Given the description of an element on the screen output the (x, y) to click on. 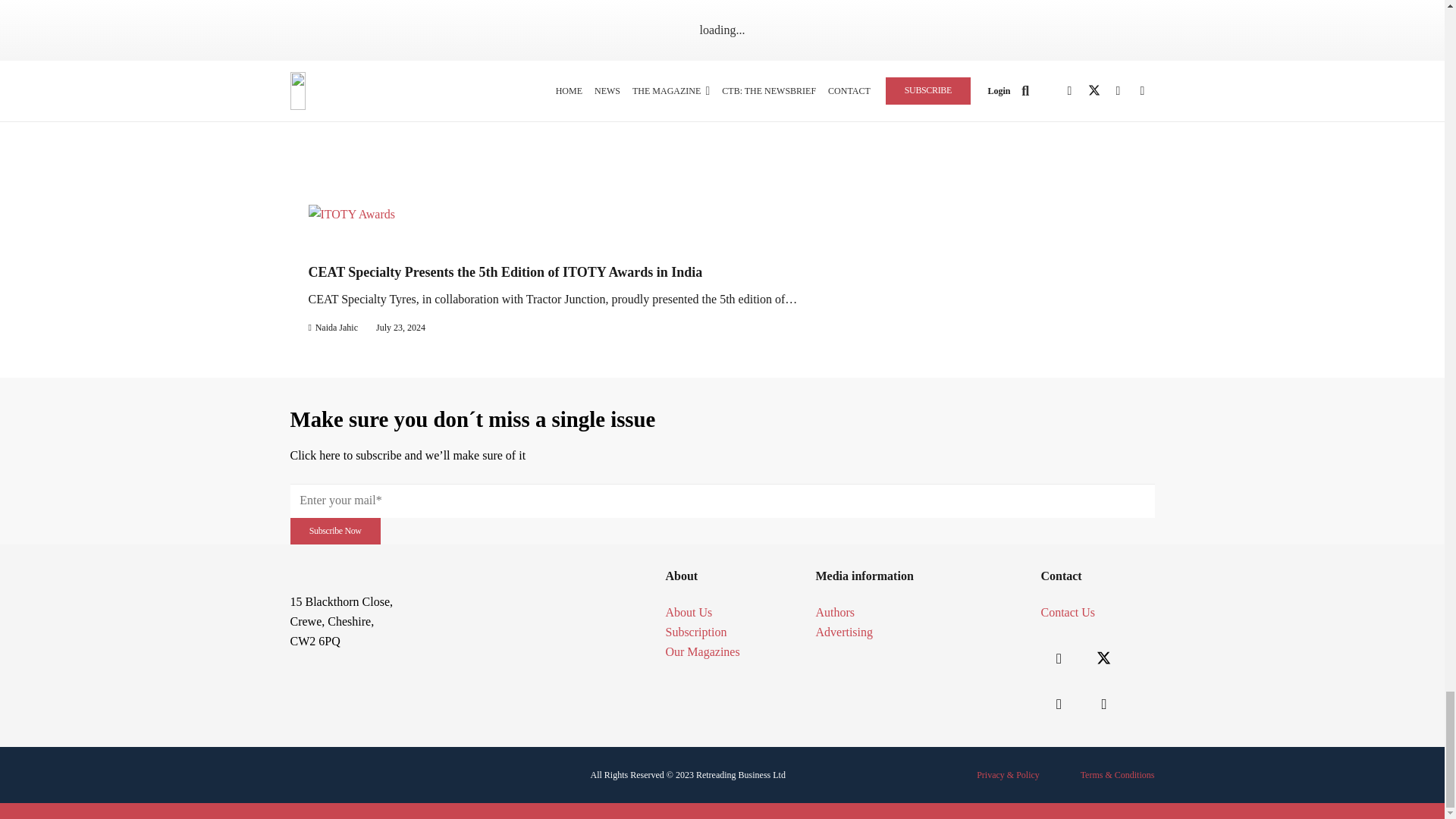
LinkedIn (1059, 704)
WhatsApp (1104, 704)
Twitter (1104, 658)
Subscribe Now (334, 530)
Facebook (1059, 658)
